Given the description of an element on the screen output the (x, y) to click on. 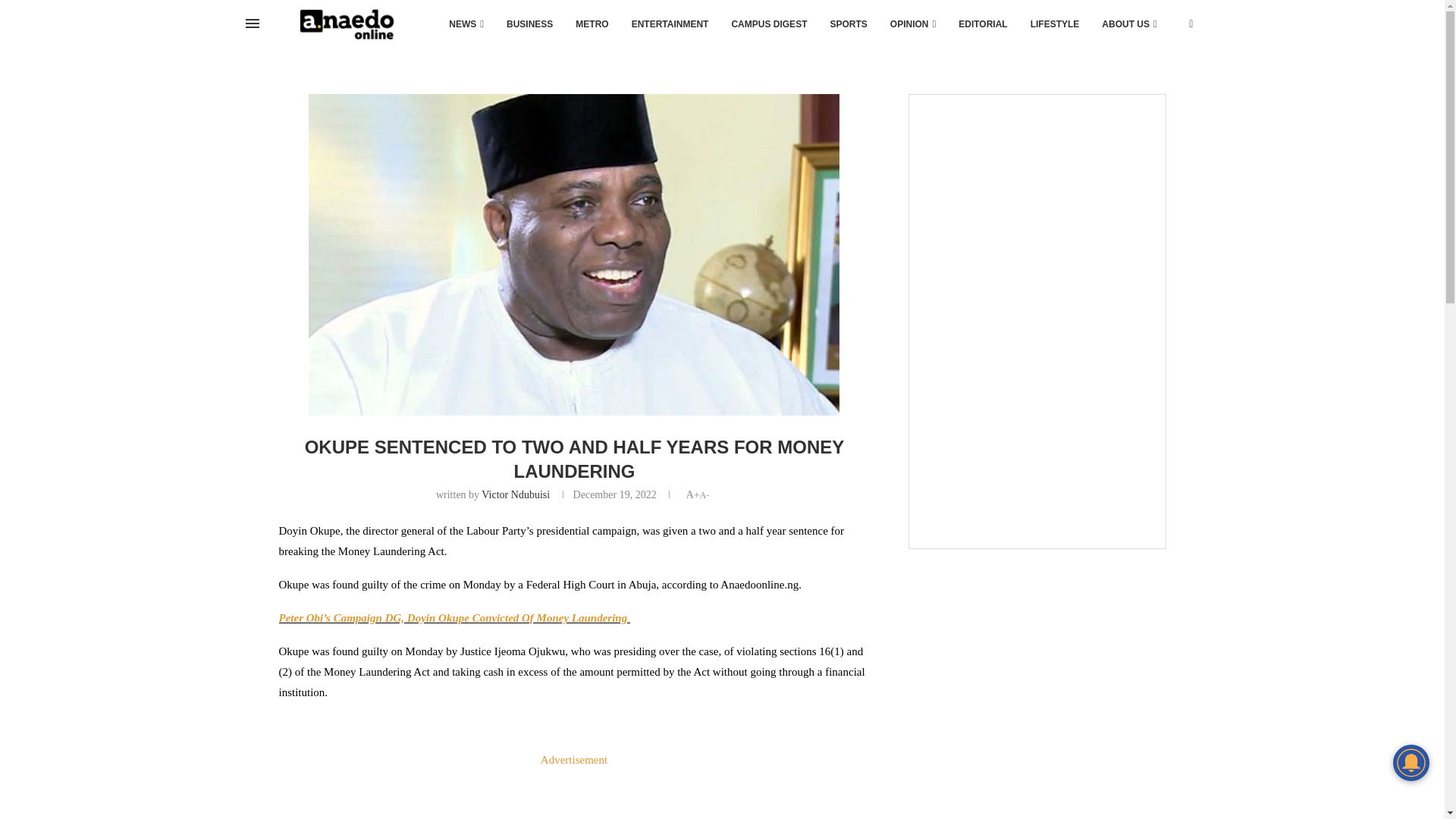
EDITORIAL (982, 23)
NEWS (466, 23)
ABOUT US (1128, 23)
SPORTS (847, 23)
Advertisement (574, 794)
LIFESTYLE (1054, 23)
ENTERTAINMENT (670, 23)
OPINION (913, 23)
METRO (592, 23)
CAMPUS DIGEST (768, 23)
BUSINESS (529, 23)
